Given the description of an element on the screen output the (x, y) to click on. 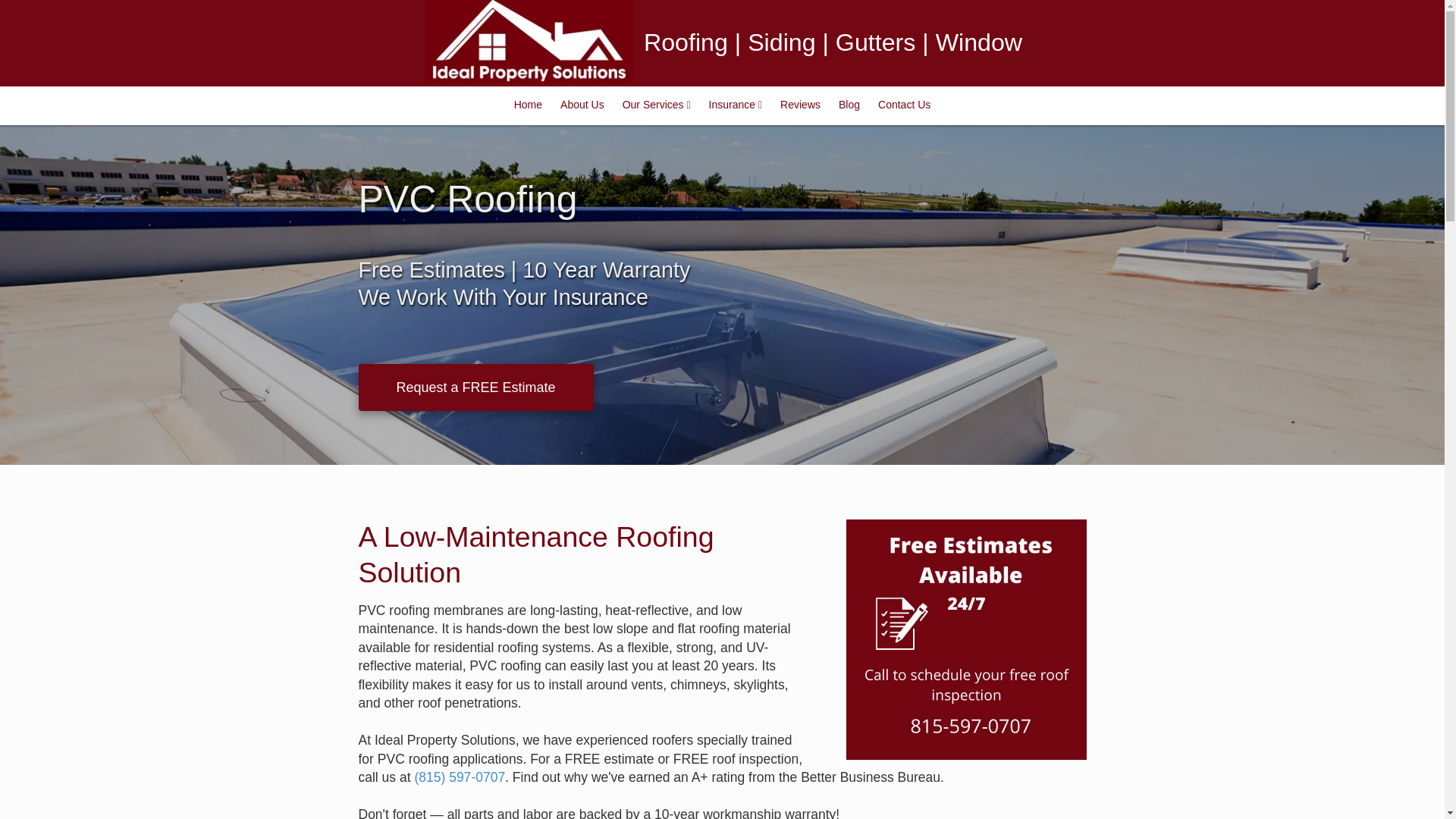
About Us (581, 105)
Contact Us (904, 105)
Our Services (656, 105)
Reviews (800, 105)
Home (528, 105)
Free Estimates Available  (965, 639)
Blog (849, 105)
Insurance (735, 105)
Request a FREE Estimate (475, 387)
